Given the description of an element on the screen output the (x, y) to click on. 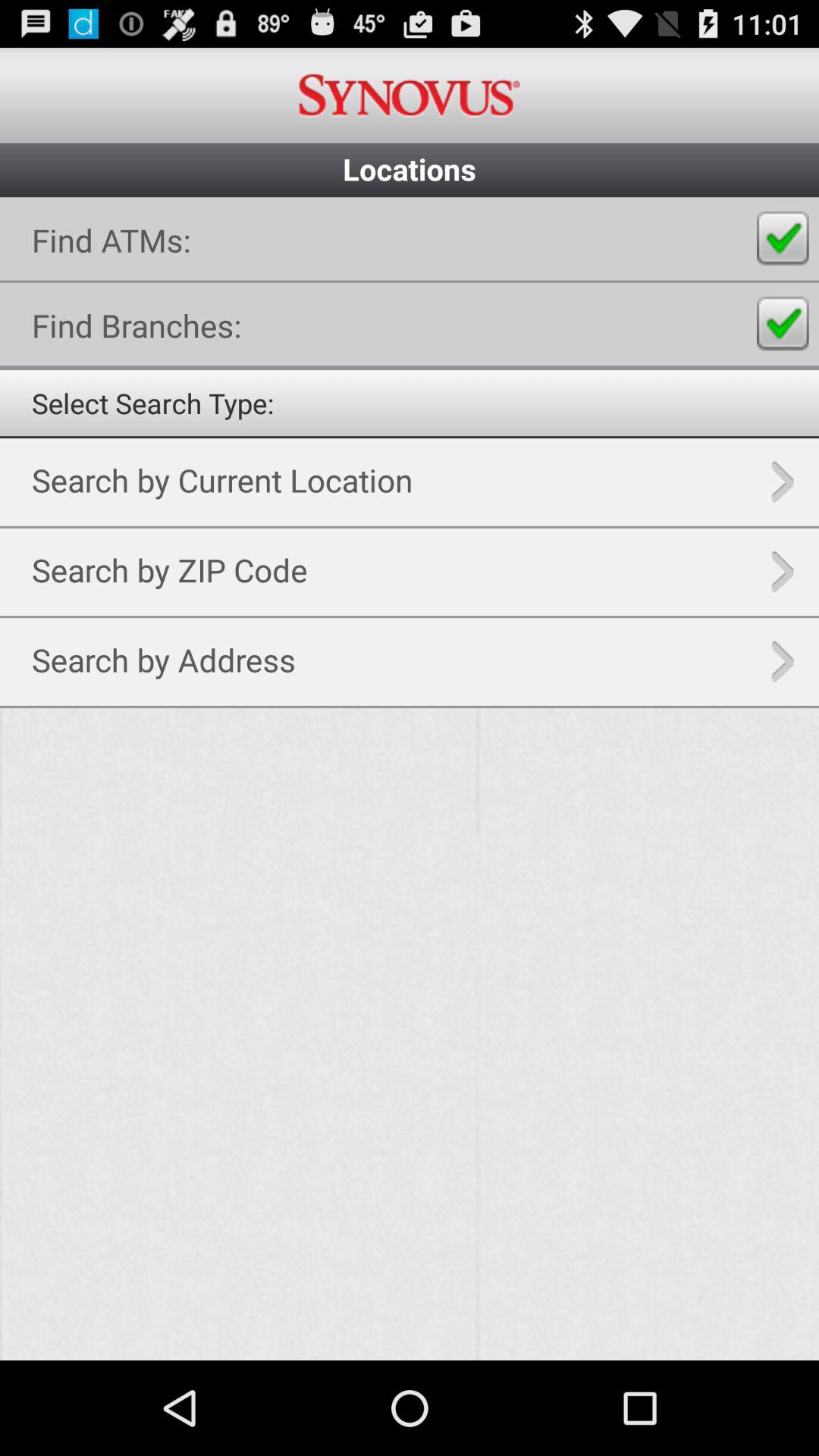
uncheck option (782, 238)
